Given the description of an element on the screen output the (x, y) to click on. 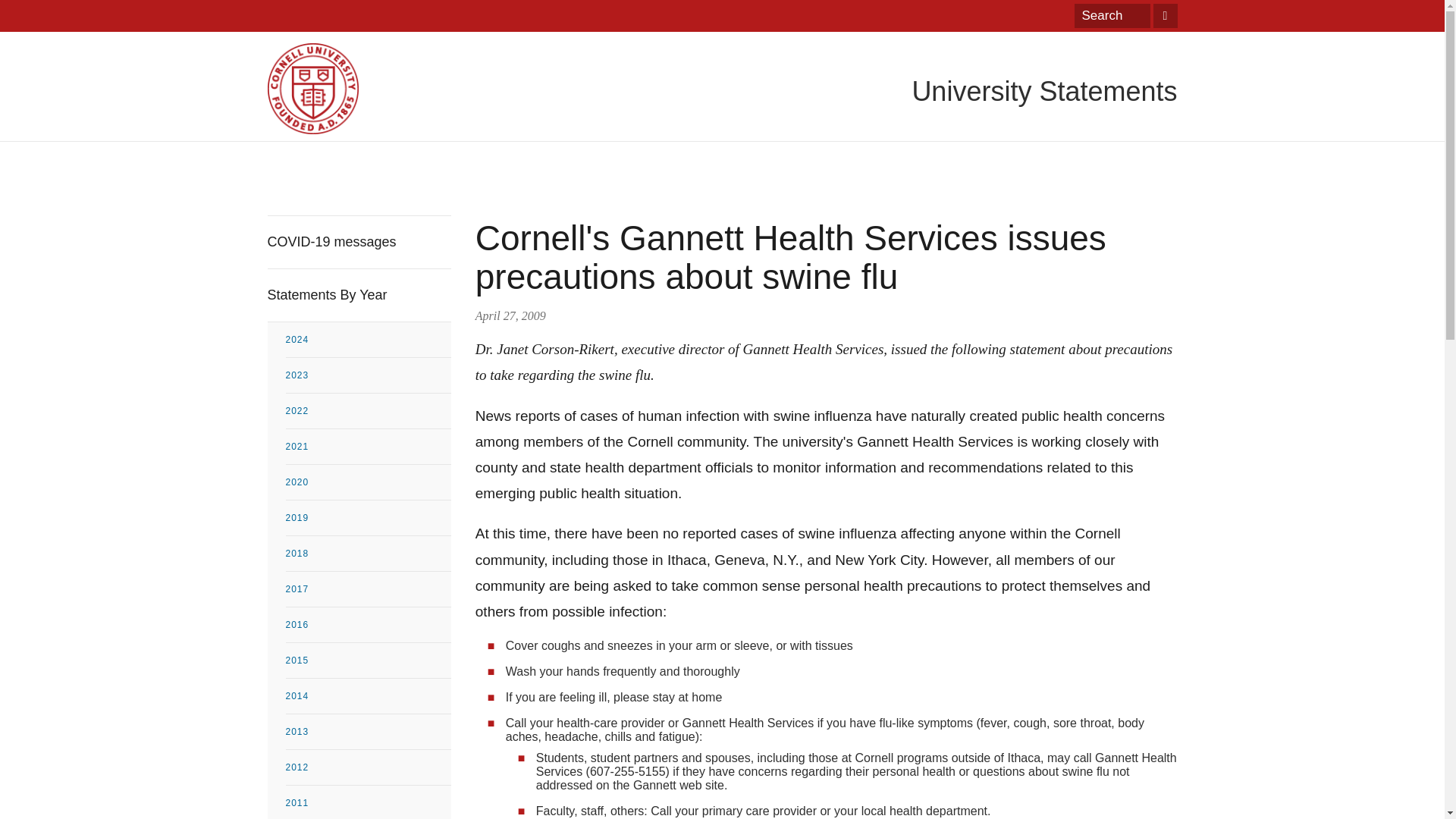
2023 (367, 375)
2014 (367, 695)
Statements By Year (357, 295)
2022 (367, 410)
2024 (367, 339)
2021 (367, 446)
Search (1112, 15)
2011 (367, 802)
2012 (367, 767)
2019 (367, 517)
2018 (367, 553)
Cornell.edu Homepage (312, 88)
2015 (367, 660)
COVID-19 messages (357, 242)
2017 (367, 588)
